Given the description of an element on the screen output the (x, y) to click on. 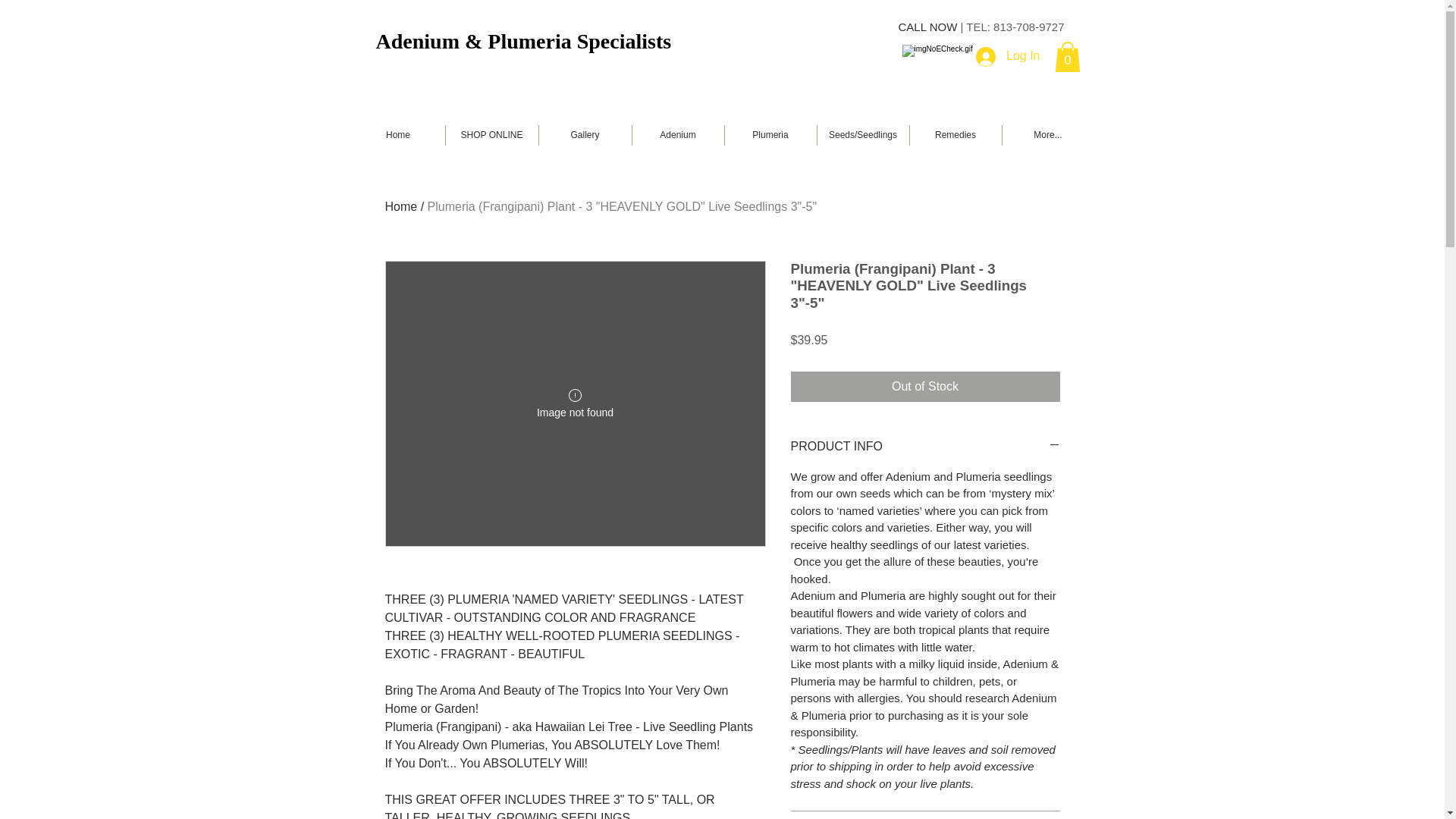
Plumeria (769, 134)
Log In (1007, 56)
Adenium (417, 40)
PRODUCT INFO (924, 446)
Adenium (676, 134)
Gallery (584, 134)
Home (398, 134)
Home (401, 205)
Out of Stock (924, 386)
SHOP ONLINE (490, 134)
Remedies (954, 134)
